Given the description of an element on the screen output the (x, y) to click on. 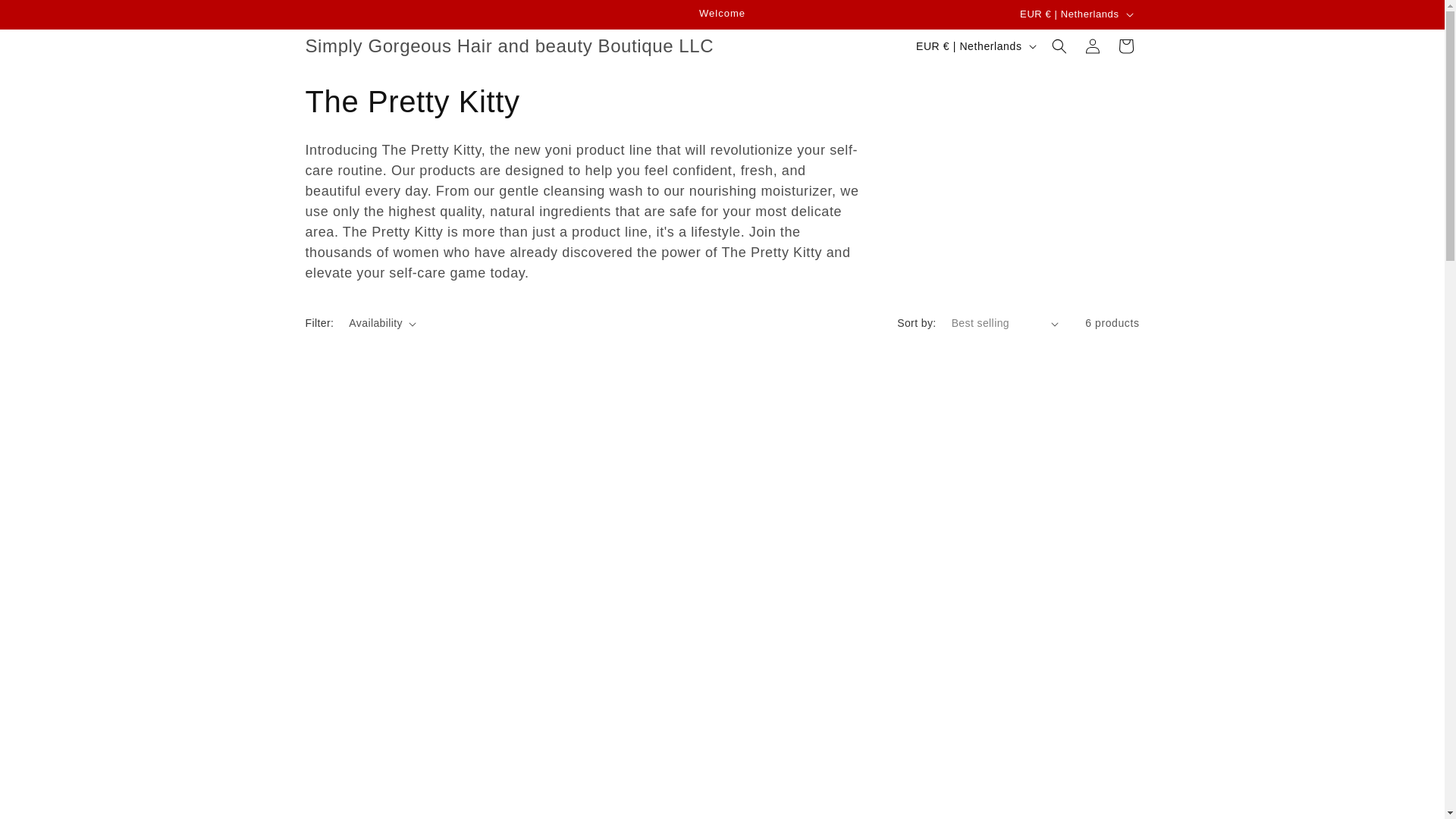
Add to cart (403, 732)
Choose options (827, 732)
Simply Gorgeous Hair and beauty Boutique LLC (509, 46)
Choose options (1040, 732)
Log in (1091, 46)
Choose options (616, 732)
Skip to content (45, 17)
Cart (1124, 46)
